Given the description of an element on the screen output the (x, y) to click on. 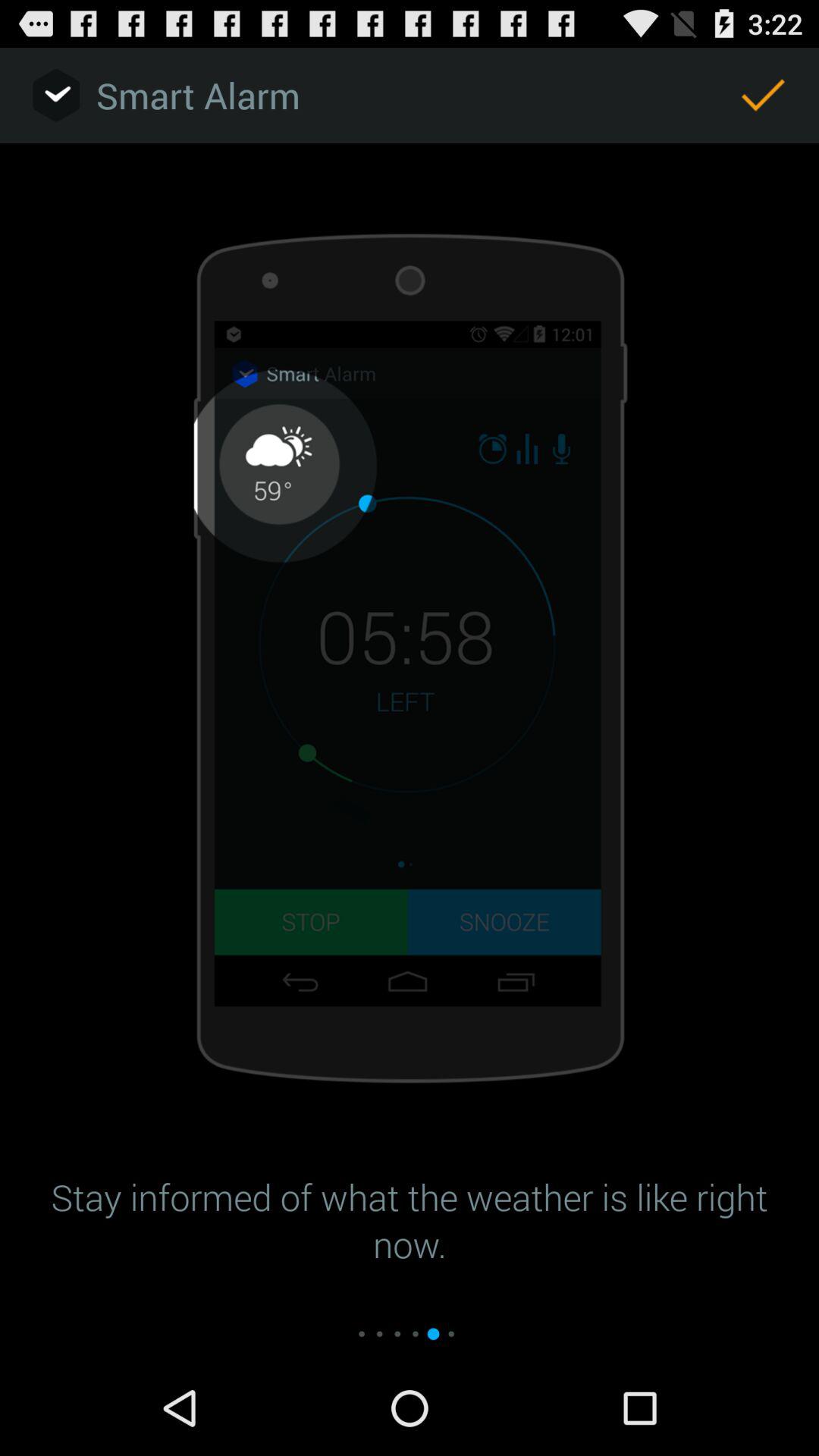
open the icon at the top right corner (763, 95)
